Given the description of an element on the screen output the (x, y) to click on. 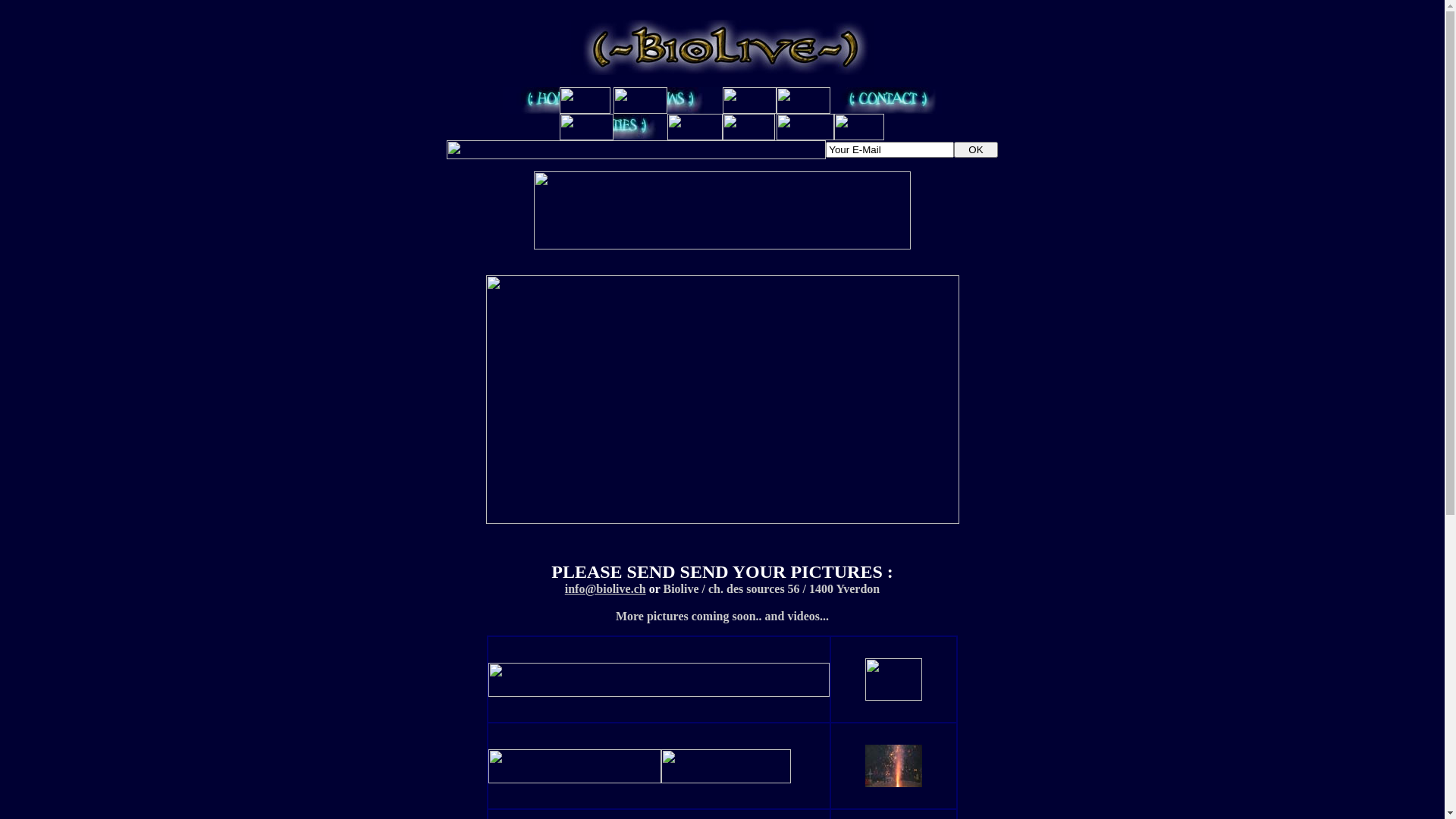
   OK    Element type: text (975, 149)
info@biolive.ch Element type: text (605, 588)
